Given the description of an element on the screen output the (x, y) to click on. 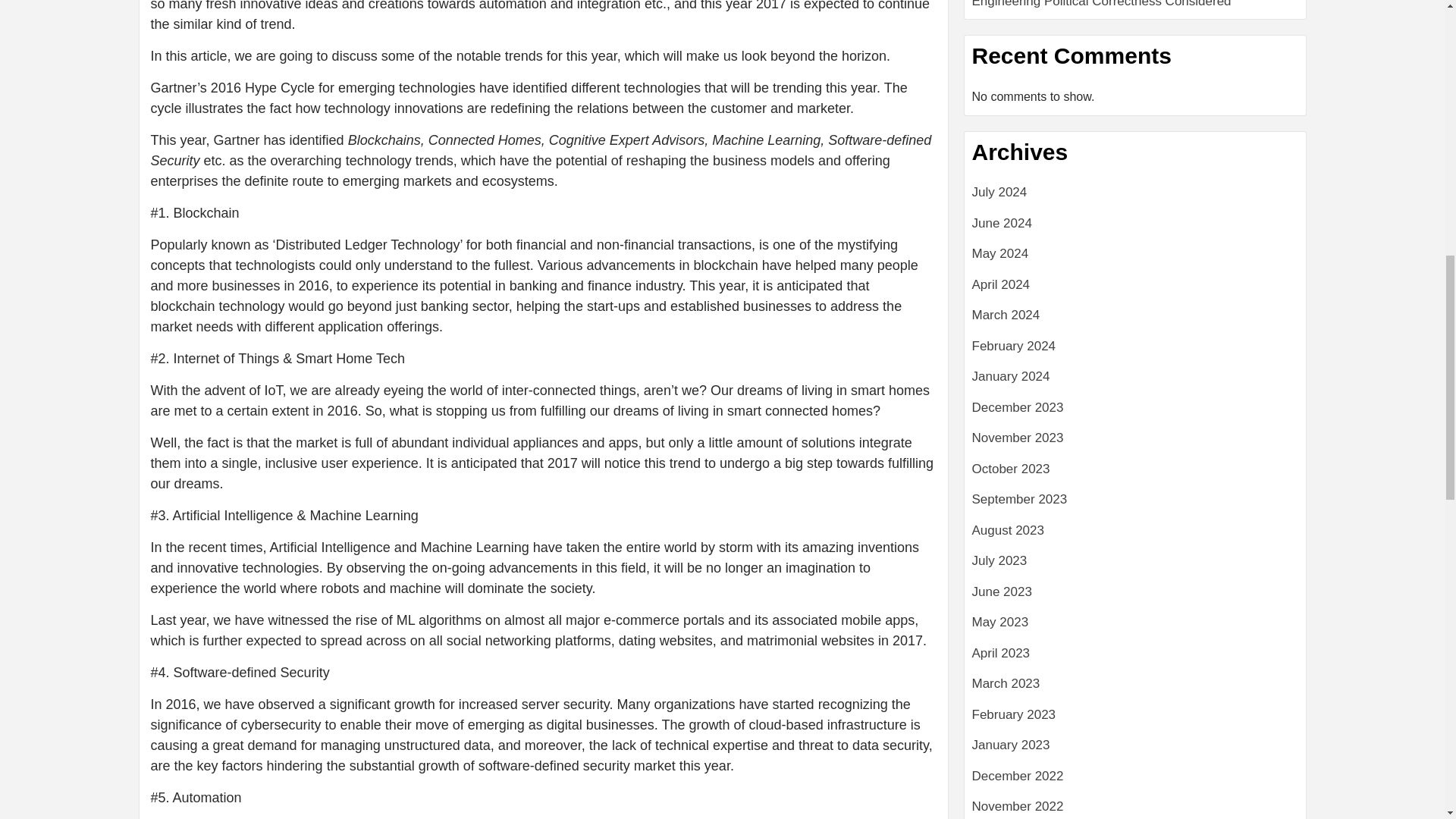
October 2023 (1135, 474)
February 2024 (1135, 351)
May 2024 (1135, 259)
April 2024 (1135, 290)
July 2024 (1135, 197)
September 2023 (1135, 504)
June 2024 (1135, 228)
March 2024 (1135, 320)
December 2023 (1135, 413)
July 2023 (1135, 566)
January 2024 (1135, 382)
November 2023 (1135, 443)
August 2023 (1135, 536)
